Given the description of an element on the screen output the (x, y) to click on. 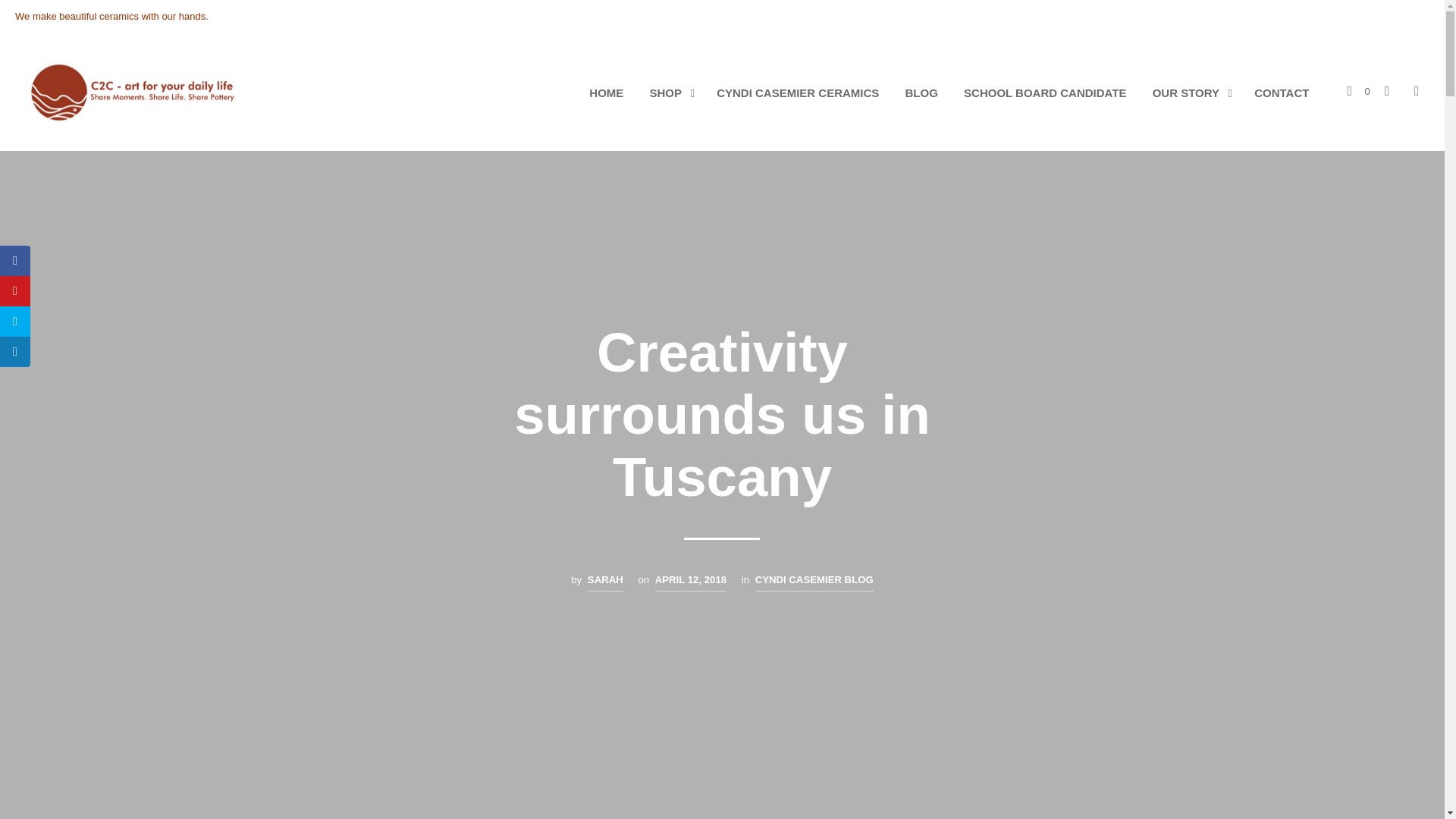
CYNDI CASEMIER CERAMICS (796, 93)
SHOP (665, 93)
0 (1358, 91)
BLOG (921, 93)
SARAH (605, 581)
SCHOOL BOARD CANDIDATE (1044, 93)
HOME (606, 93)
View all posts by Sarah (605, 581)
Permalink to Creativity surrounds us in Tuscany (690, 581)
CONTACT (1281, 93)
